Given the description of an element on the screen output the (x, y) to click on. 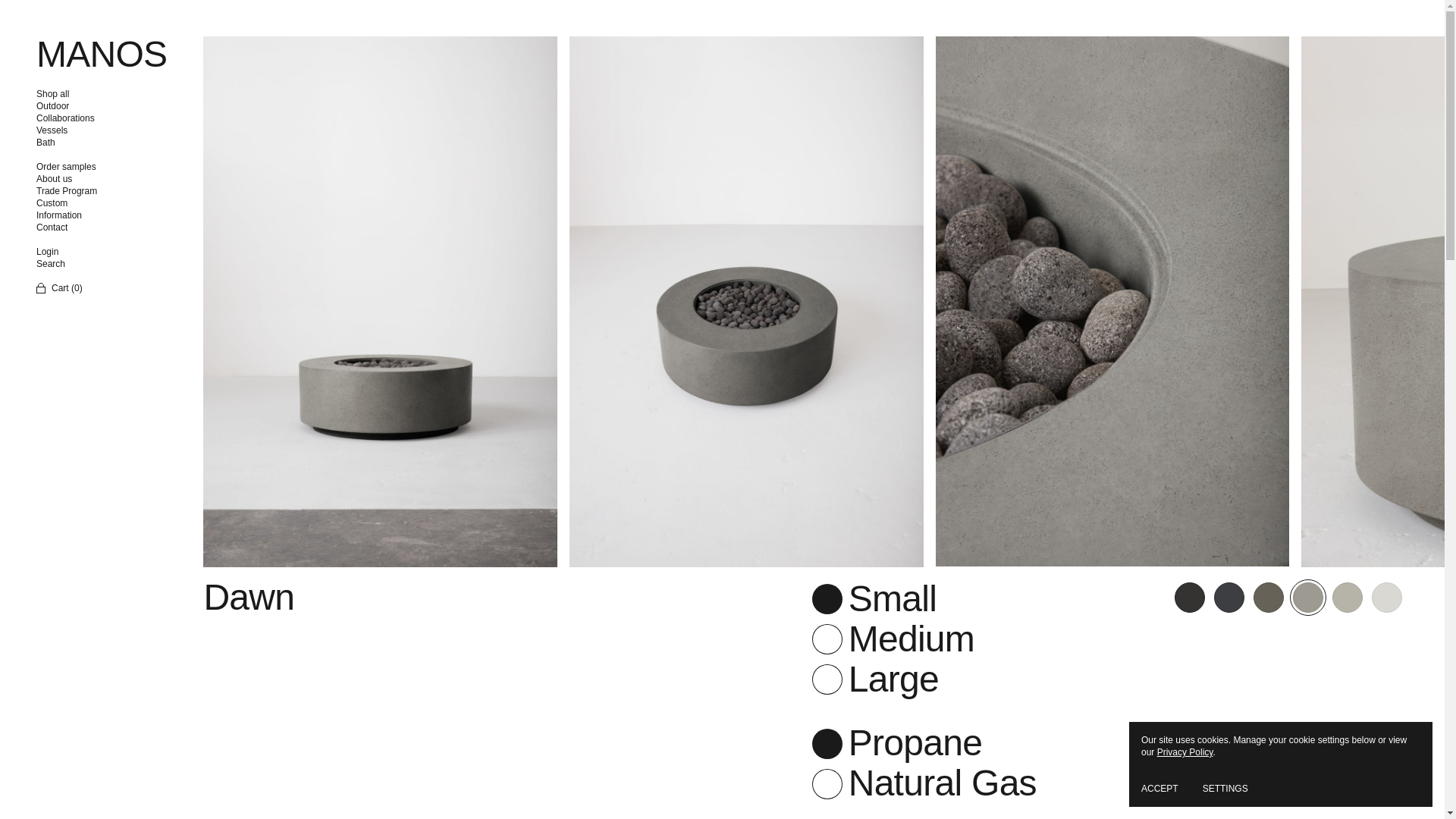
Fog (1347, 597)
Information (87, 215)
Ash (1308, 597)
Vessels (87, 130)
Chalk (1386, 597)
Collaborations (87, 118)
Storm (1190, 597)
Order samples (87, 166)
About us (87, 178)
Hurricane (1268, 597)
